Given the description of an element on the screen output the (x, y) to click on. 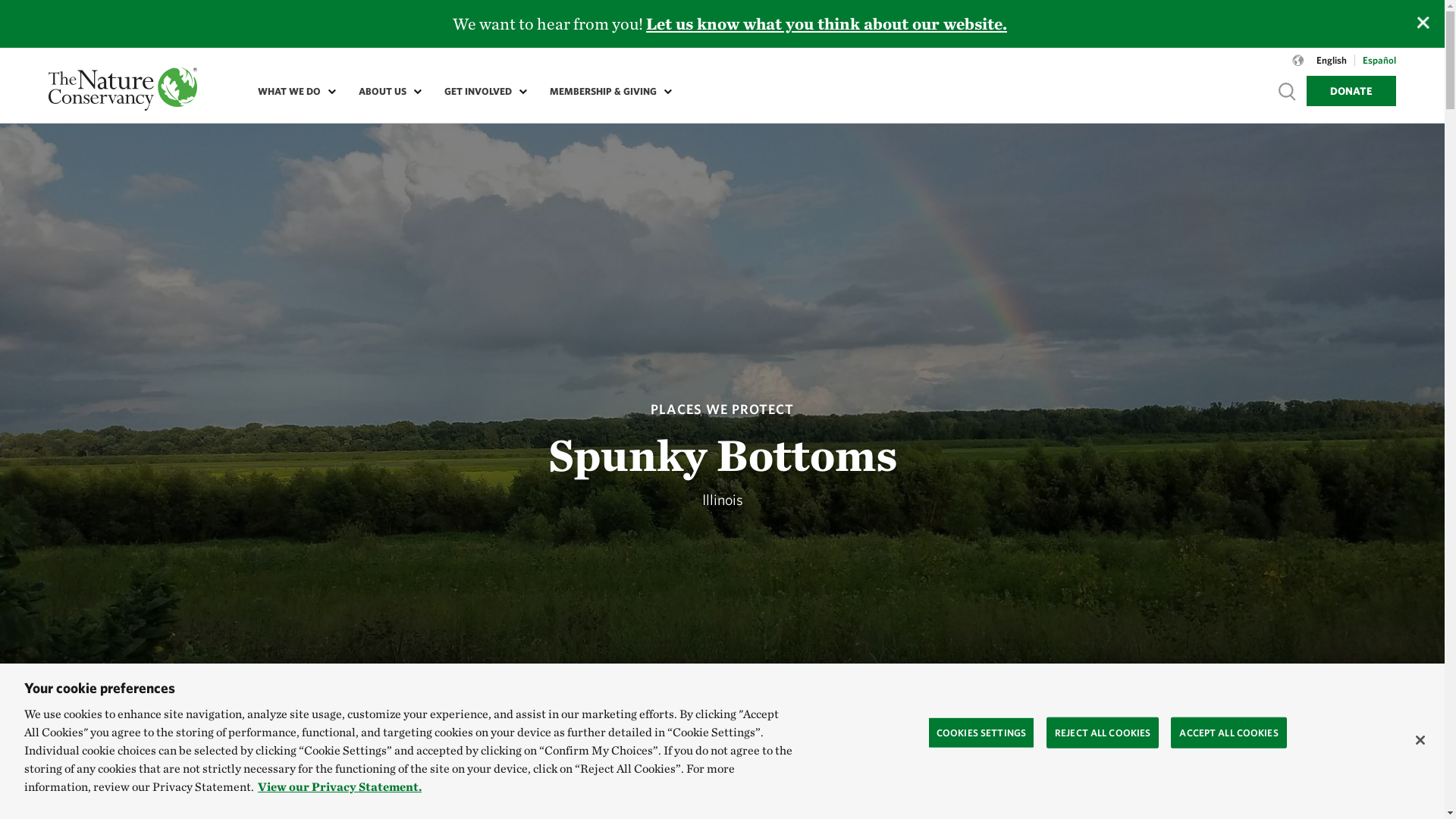
Let us know what you think about our website. (828, 23)
ABOUT US (386, 91)
GET INVOLVED (481, 91)
English (1331, 60)
WHAT WE DO (293, 91)
Close (1422, 22)
